Given the description of an element on the screen output the (x, y) to click on. 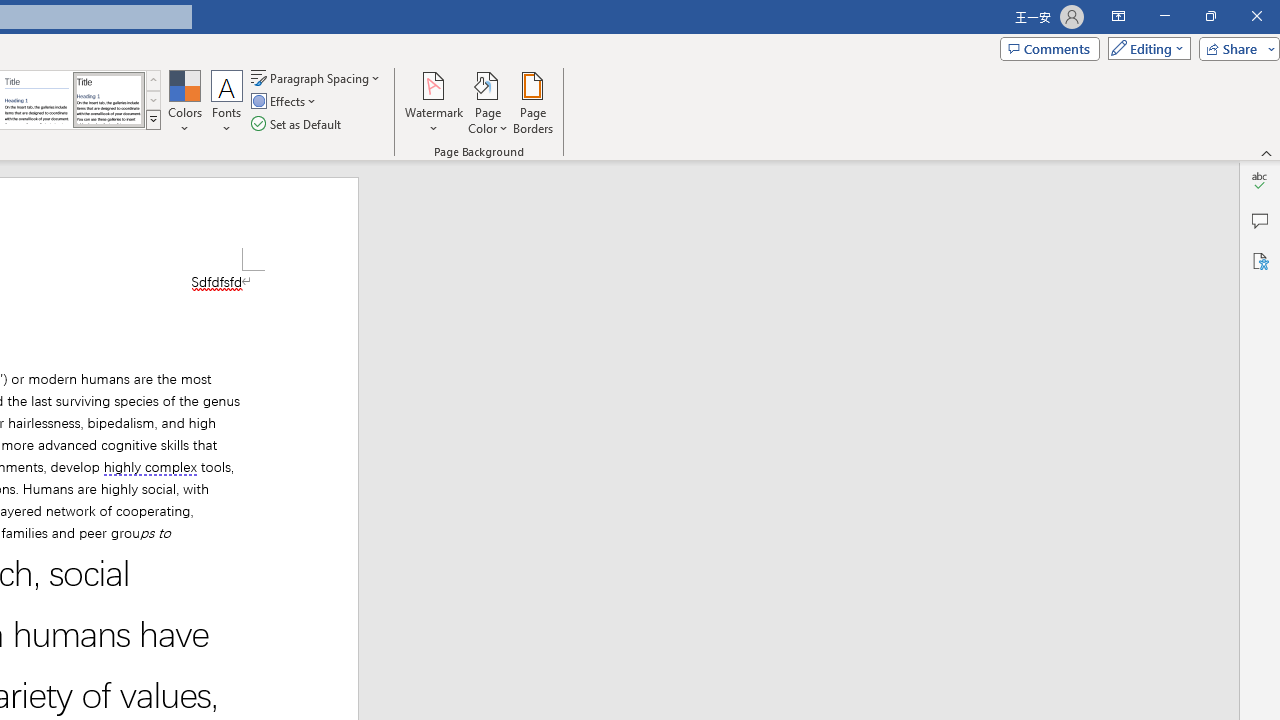
Page Borders... (532, 102)
Fonts (227, 102)
Style Set (153, 120)
Word 2010 (36, 100)
Set as Default (298, 124)
Page Color (487, 102)
Paragraph Spacing (317, 78)
